Given the description of an element on the screen output the (x, y) to click on. 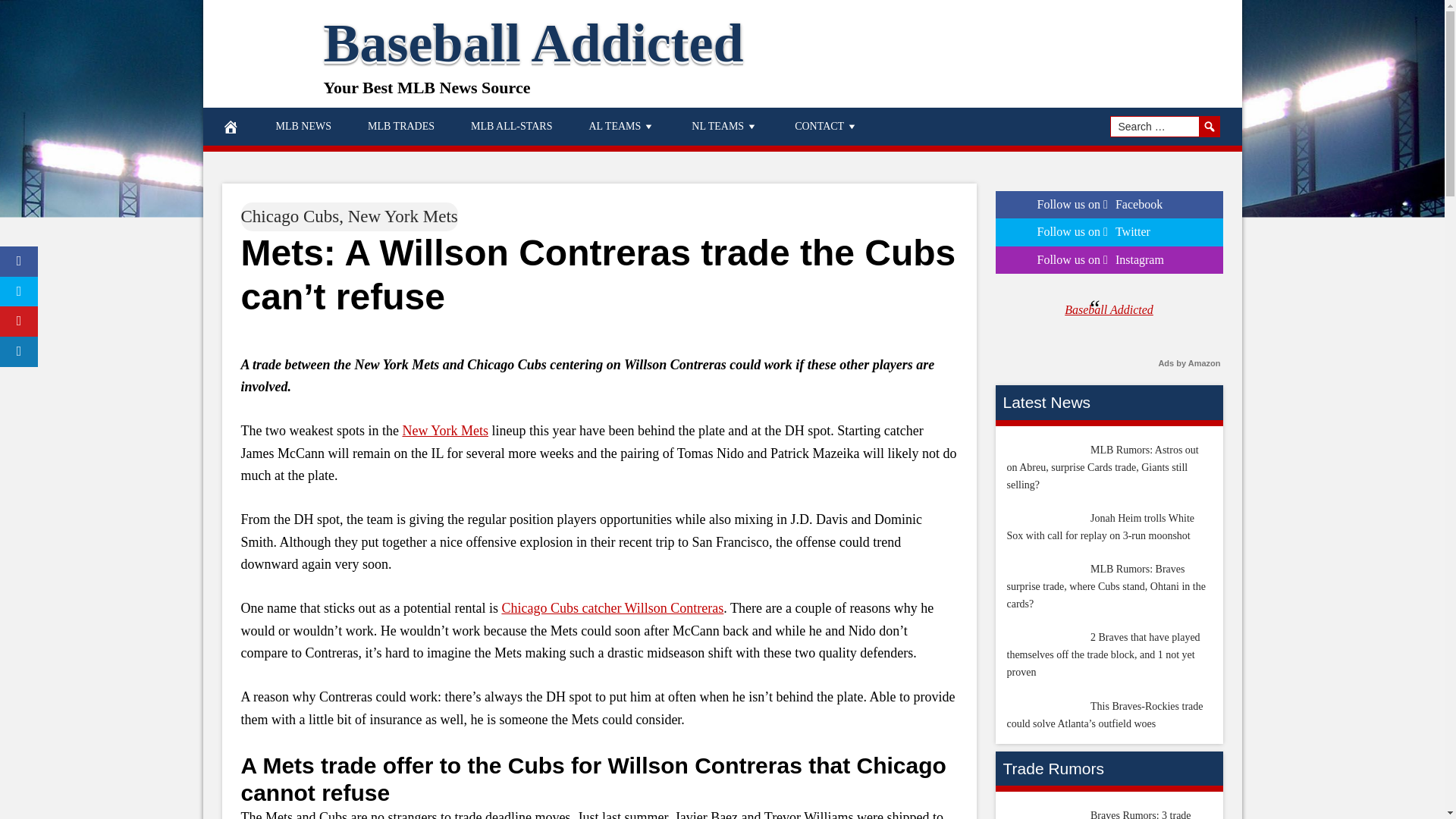
Chicago Cubs (290, 216)
New York Mets (402, 216)
